Given the description of an element on the screen output the (x, y) to click on. 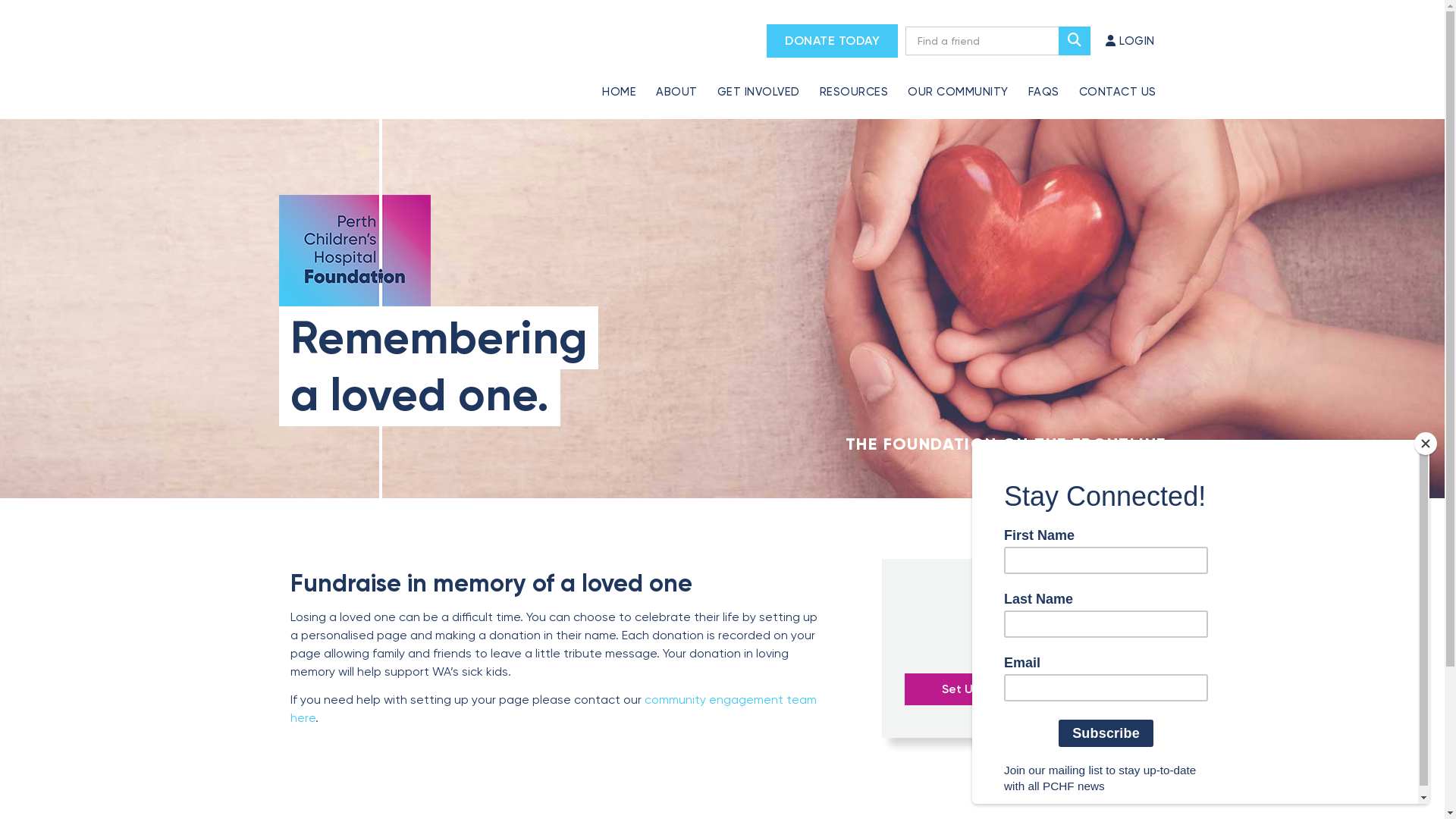
HOME Element type: text (619, 83)
DONATE TODAY Element type: text (831, 40)
OUR COMMUNITY Element type: text (957, 83)
ABOUT Element type: text (676, 83)
community engagement team here Element type: text (552, 708)
FAQS Element type: text (1042, 83)
LOGIN Element type: text (1130, 40)
Set Up My In Memory Page Element type: text (1017, 689)
GET INVOLVED Element type: text (757, 83)
CONTACT US Element type: text (1117, 83)
RESOURCES Element type: text (853, 83)
